Given the description of an element on the screen output the (x, y) to click on. 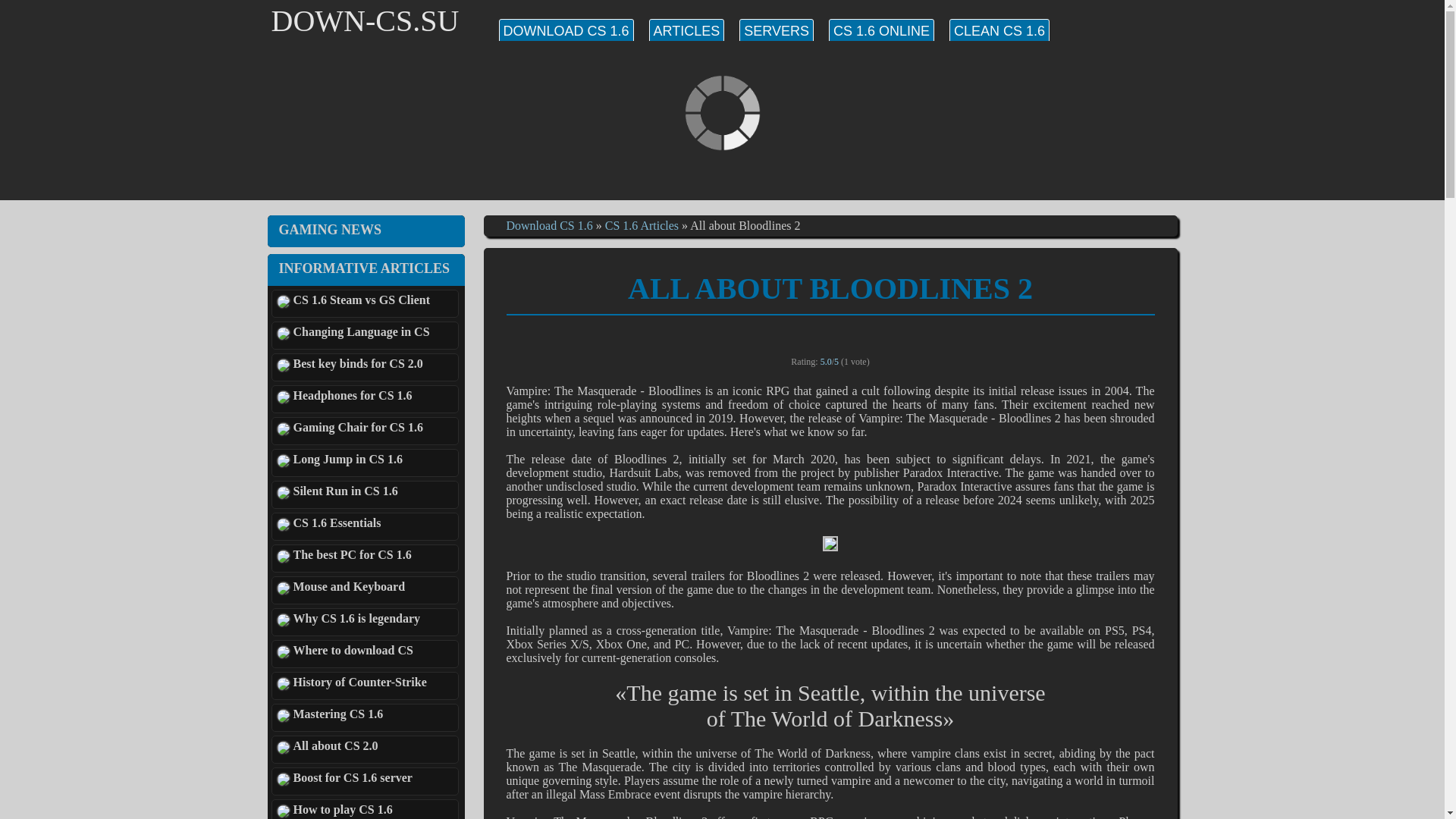
SERVERS (776, 31)
ARTICLES (687, 31)
DOWNLOAD CS 1.6 (566, 31)
Long Jump in CS 1.6 (365, 462)
Gaming Chair for CS 1.6 (365, 430)
The best PC for CS 1.6 (365, 558)
Mouse and Keyboard (365, 590)
CS 1.6 ONLINE (885, 25)
4out of 5 (852, 335)
CLEAN CS 1.6 (1003, 25)
